Given the description of an element on the screen output the (x, y) to click on. 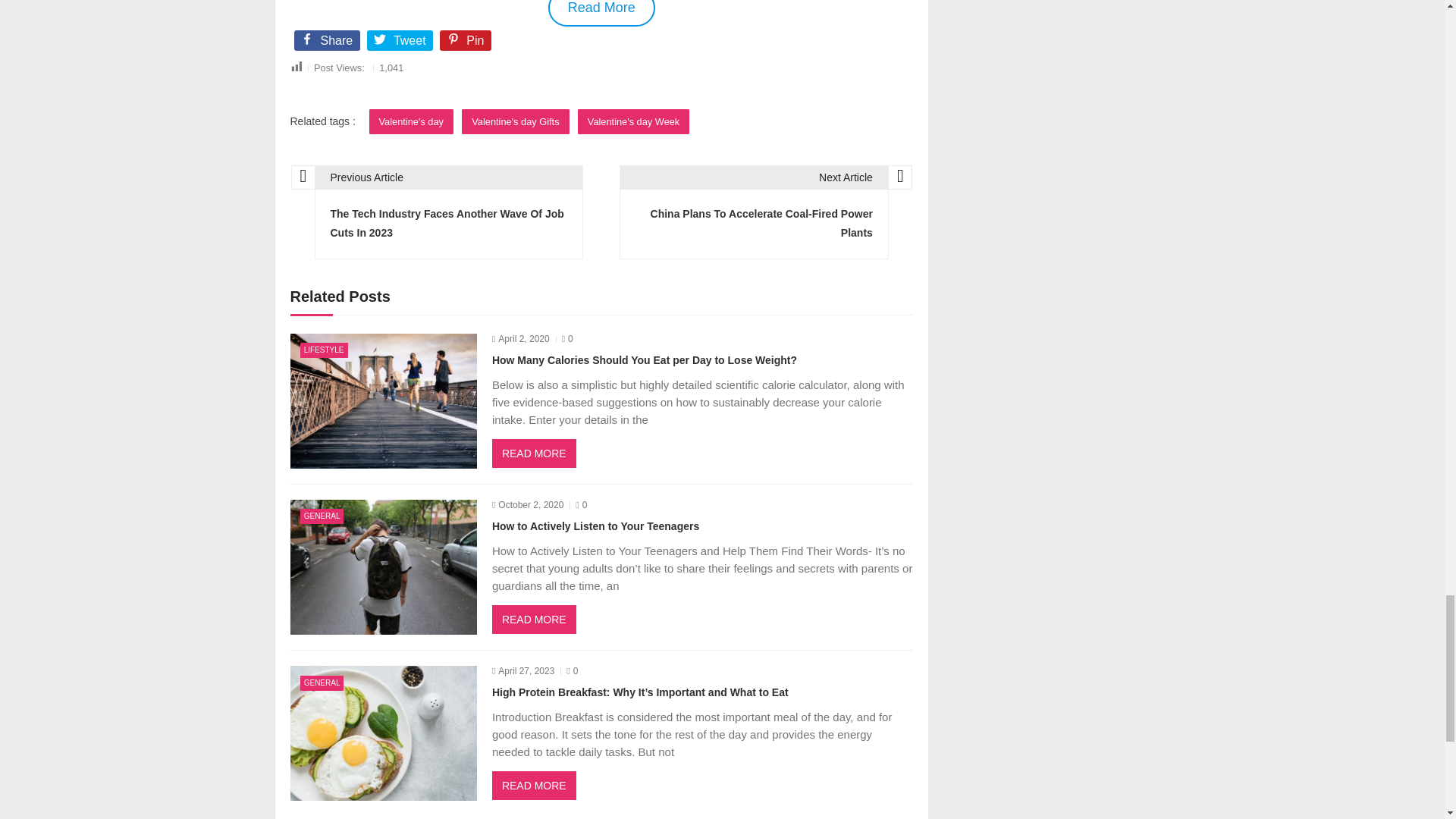
Pin (467, 43)
How Many Calories Should You Eat per Day to Lose Weight? (382, 400)
Share on Facebook (328, 43)
Tweet (400, 43)
How to Actively Listen to Your Teenagers (382, 566)
